Given the description of an element on the screen output the (x, y) to click on. 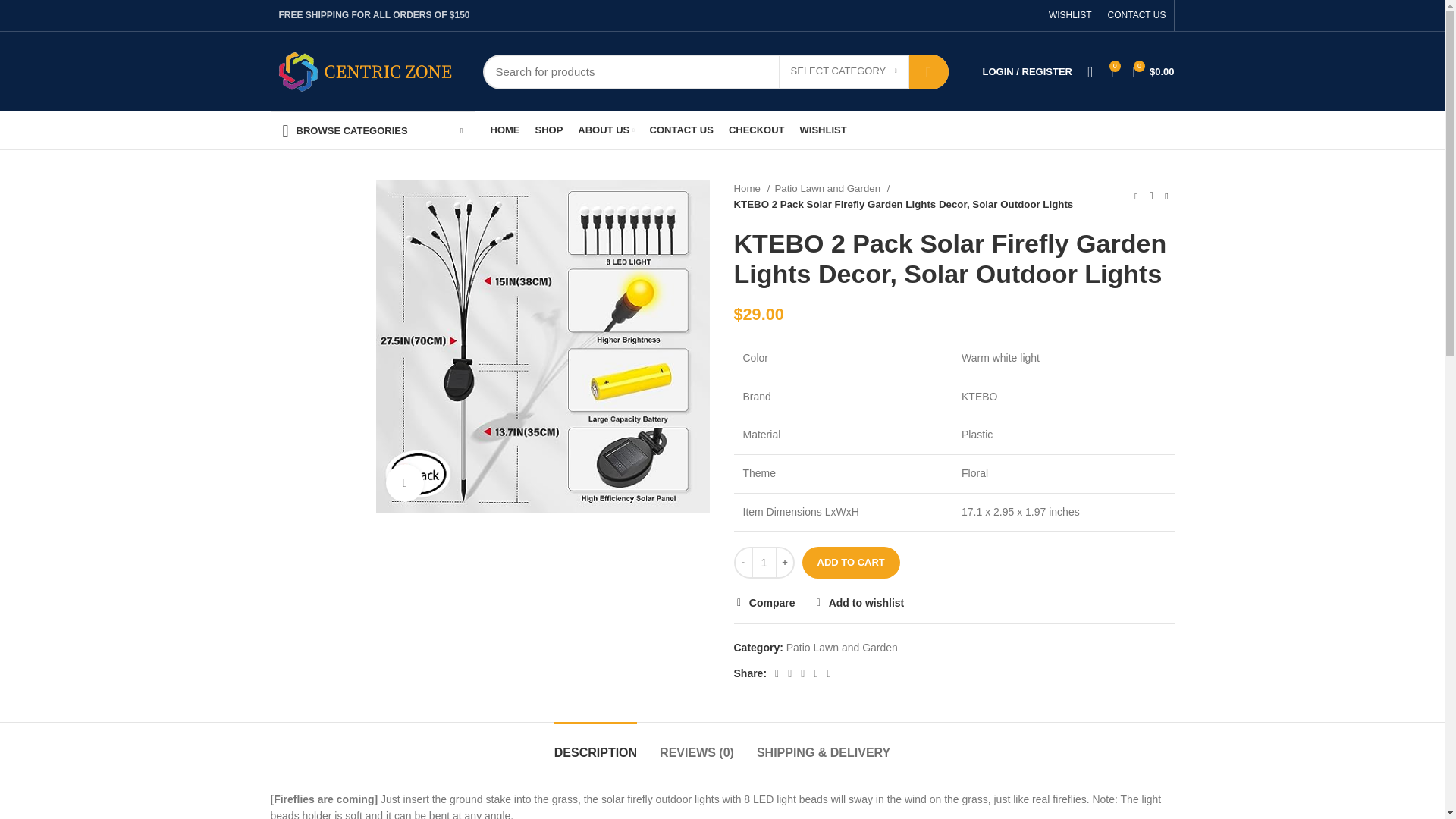
SELECT CATEGORY (843, 71)
CONTACT US (1136, 15)
Search for products (714, 71)
HOME (504, 130)
Shopping cart (1153, 71)
My account (1027, 71)
SELECT CATEGORY (843, 71)
WISHLIST (1070, 15)
SEARCH (928, 71)
